Given the description of an element on the screen output the (x, y) to click on. 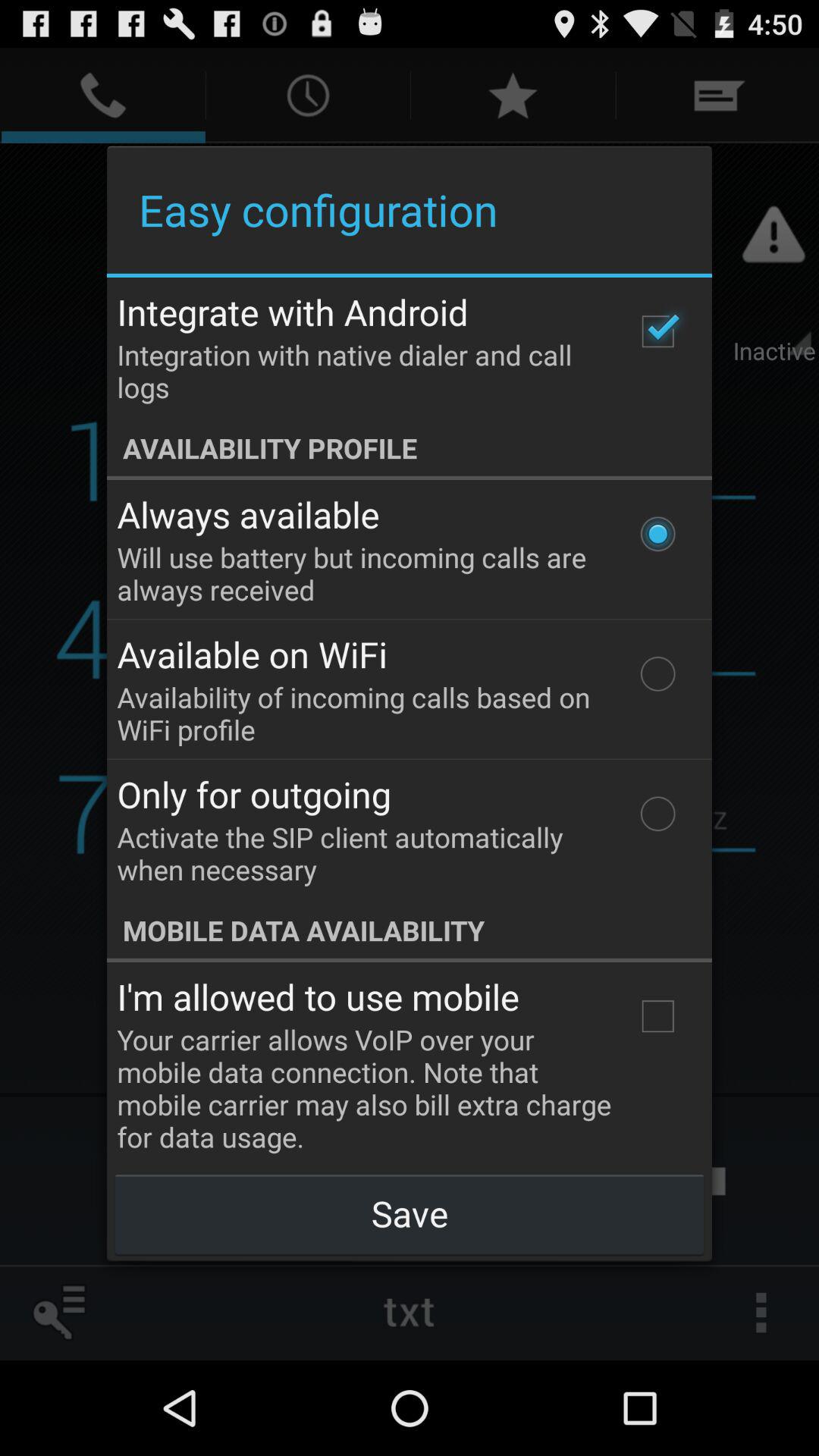
press item next to the integrate with android (657, 331)
